Given the description of an element on the screen output the (x, y) to click on. 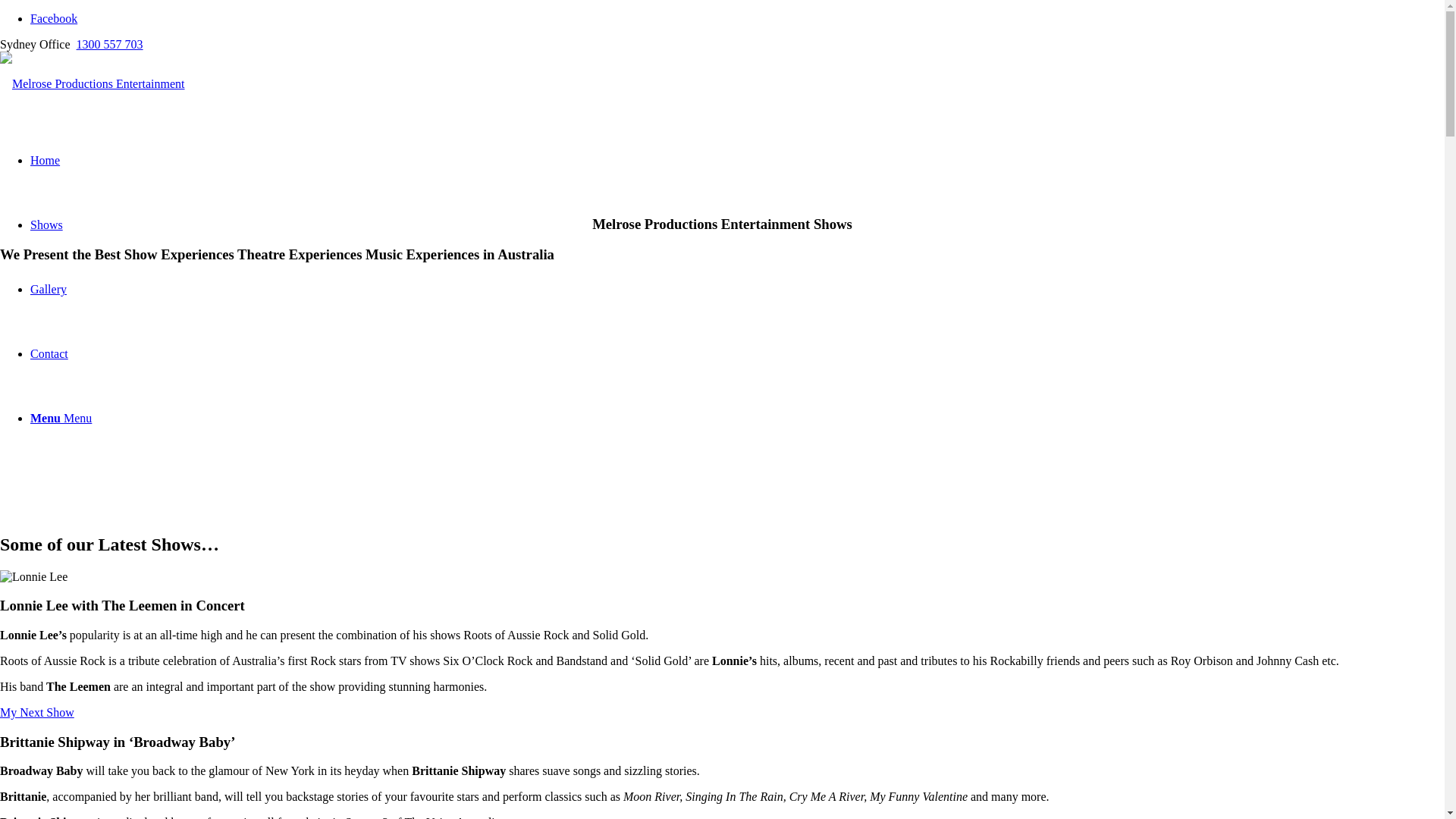
Shows Element type: text (46, 224)
Gallery Element type: text (48, 288)
Melrose Productions Entertainment Element type: hover (92, 83)
Contact Element type: text (49, 353)
1300 557 703 Element type: text (109, 43)
Menu Menu Element type: text (60, 417)
Home Element type: text (44, 159)
My Next Show Element type: text (37, 712)
Facebook Element type: text (53, 18)
Lonnie Lee Element type: hover (33, 576)
Melrose Productions Entertainment Element type: hover (92, 83)
